Given the description of an element on the screen output the (x, y) to click on. 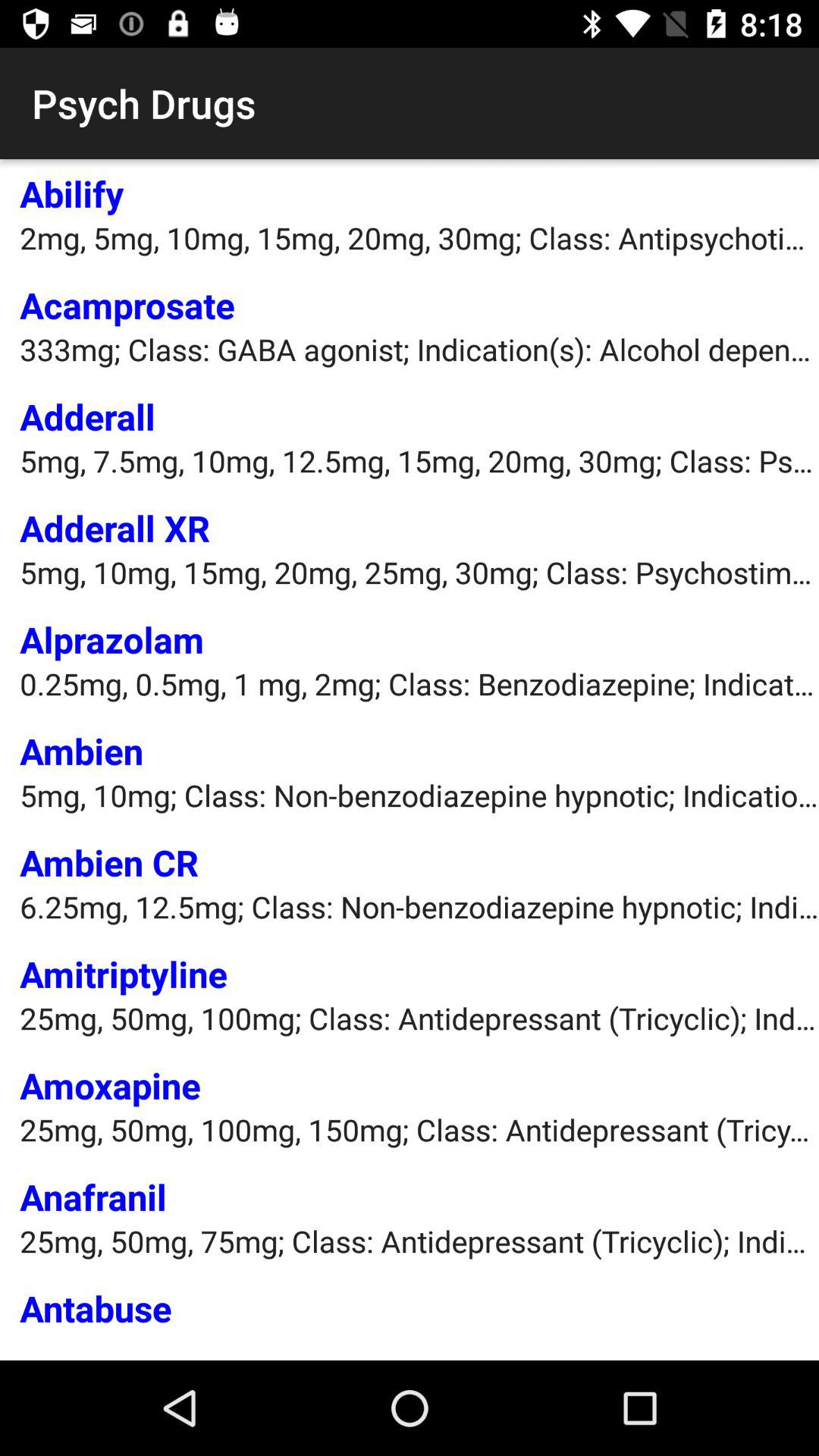
tap icon below 2mg 5mg 10mg (126, 304)
